Given the description of an element on the screen output the (x, y) to click on. 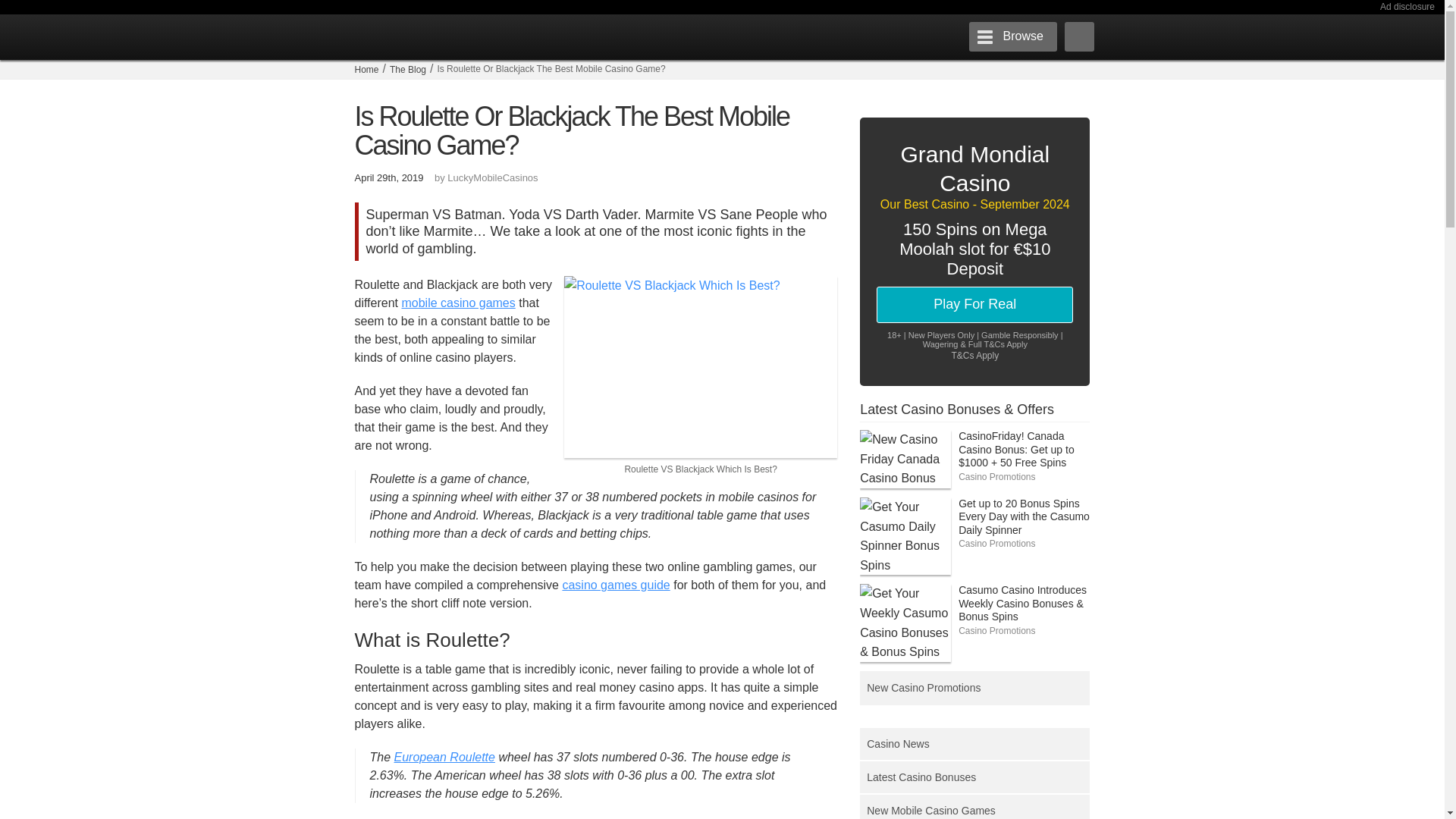
Top European Roulette Game (444, 757)
casino games guide (615, 584)
The Blog (408, 69)
Lucky Mobile Casinos (475, 36)
Play Now at Casumo Mobile Casino (700, 376)
Comprehensive Casino Game Guides (615, 584)
Mobile Casino Games Online (458, 302)
Independent Casino Reviews (366, 69)
Home (366, 69)
European Roulette (444, 757)
